Given the description of an element on the screen output the (x, y) to click on. 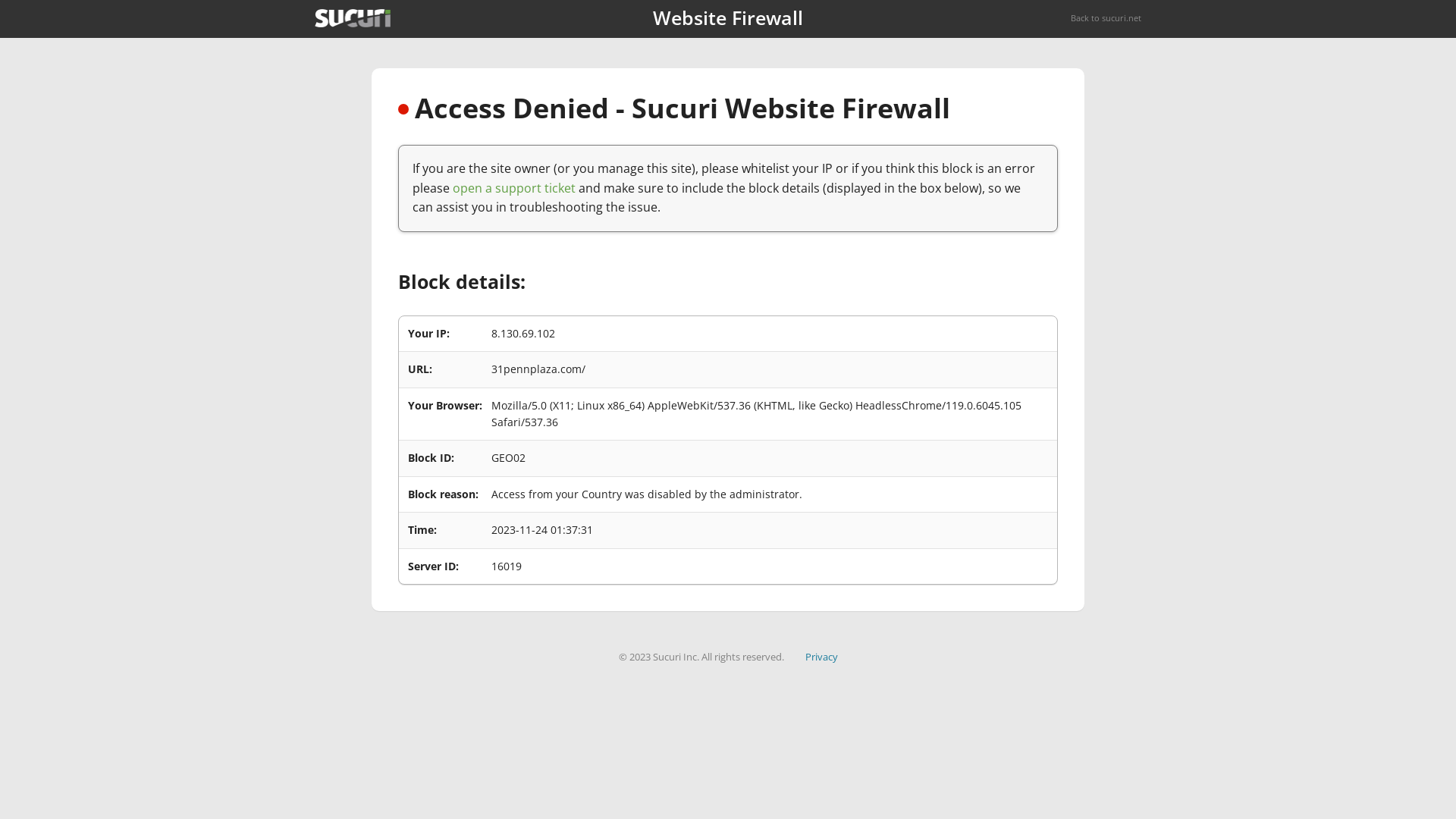
Back to sucuri.net Element type: text (1105, 18)
open a support ticket Element type: text (513, 187)
Privacy Element type: text (821, 656)
